Given the description of an element on the screen output the (x, y) to click on. 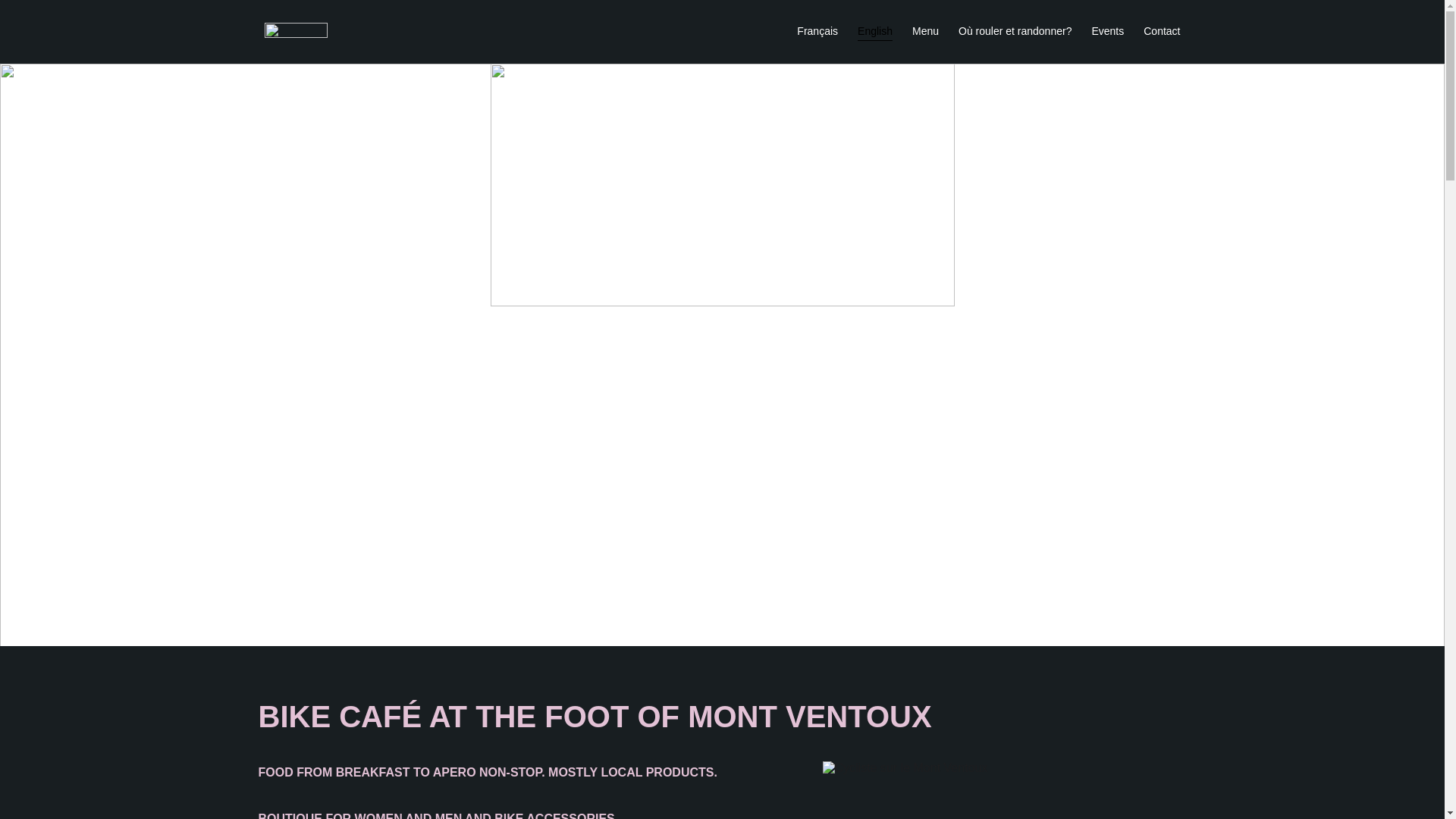
Menu Element type: text (925, 31)
Go to Facebook page Element type: hover (303, 572)
Go to Instagram page Element type: hover (265, 572)
Events Element type: text (1107, 31)
Contact Element type: text (1161, 31)
English Element type: text (874, 31)
